Given the description of an element on the screen output the (x, y) to click on. 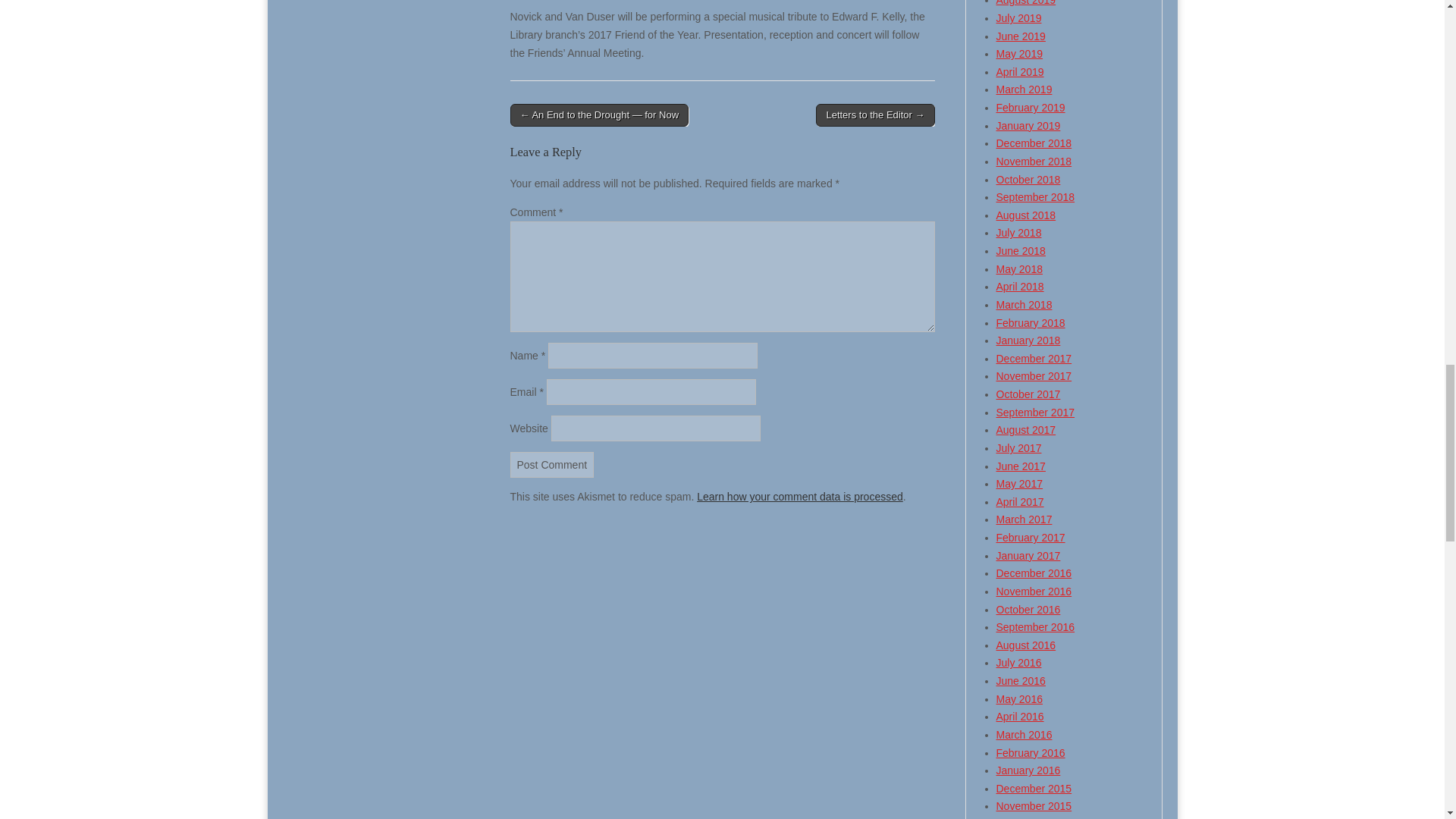
Post Comment (551, 464)
Post Comment (551, 464)
Learn how your comment data is processed (799, 496)
